Given the description of an element on the screen output the (x, y) to click on. 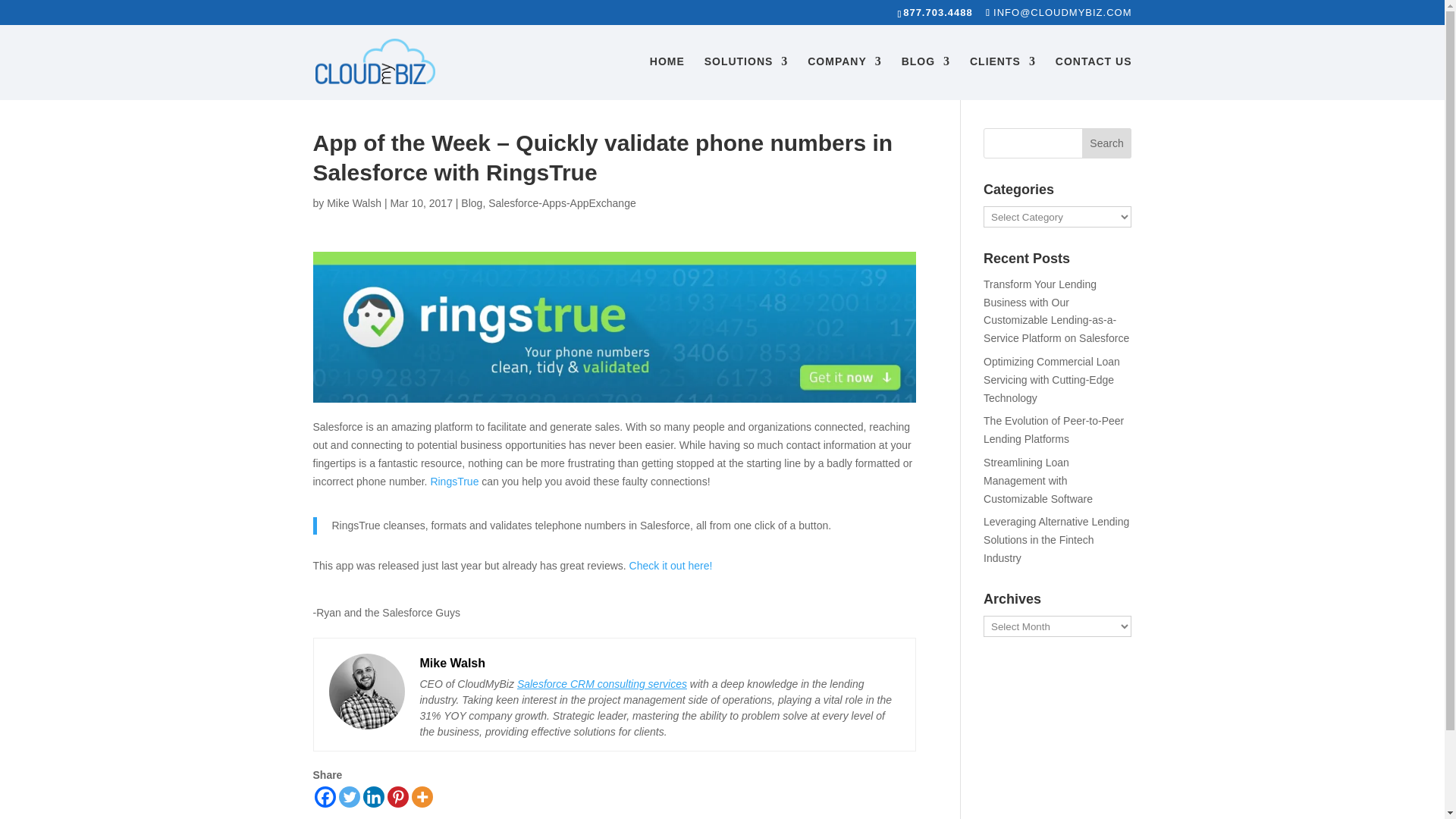
Search (1106, 142)
BLOG (925, 77)
Salesforce CRM consulting services (601, 684)
Pinterest (397, 796)
Blog (471, 203)
The Evolution of Peer-to-Peer Lending Platforms (1054, 429)
CONTACT US (1093, 77)
More (421, 796)
CLIENTS (1002, 77)
SOLUTIONS (746, 77)
Facebook (324, 796)
Search (1106, 142)
Streamlining Loan Management with Customizable Software (1038, 480)
